Given the description of an element on the screen output the (x, y) to click on. 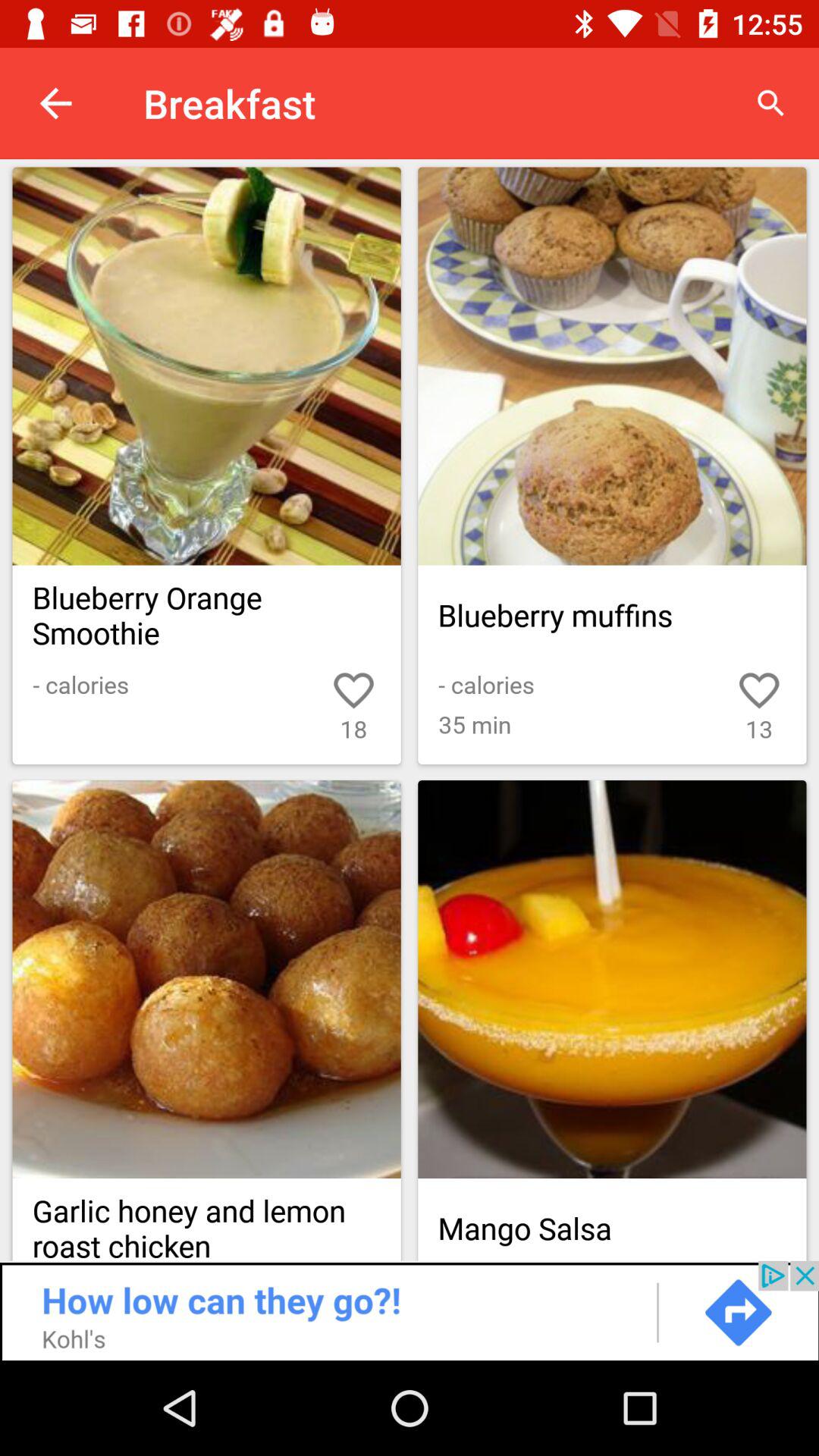
open advertisement (409, 1310)
